Given the description of an element on the screen output the (x, y) to click on. 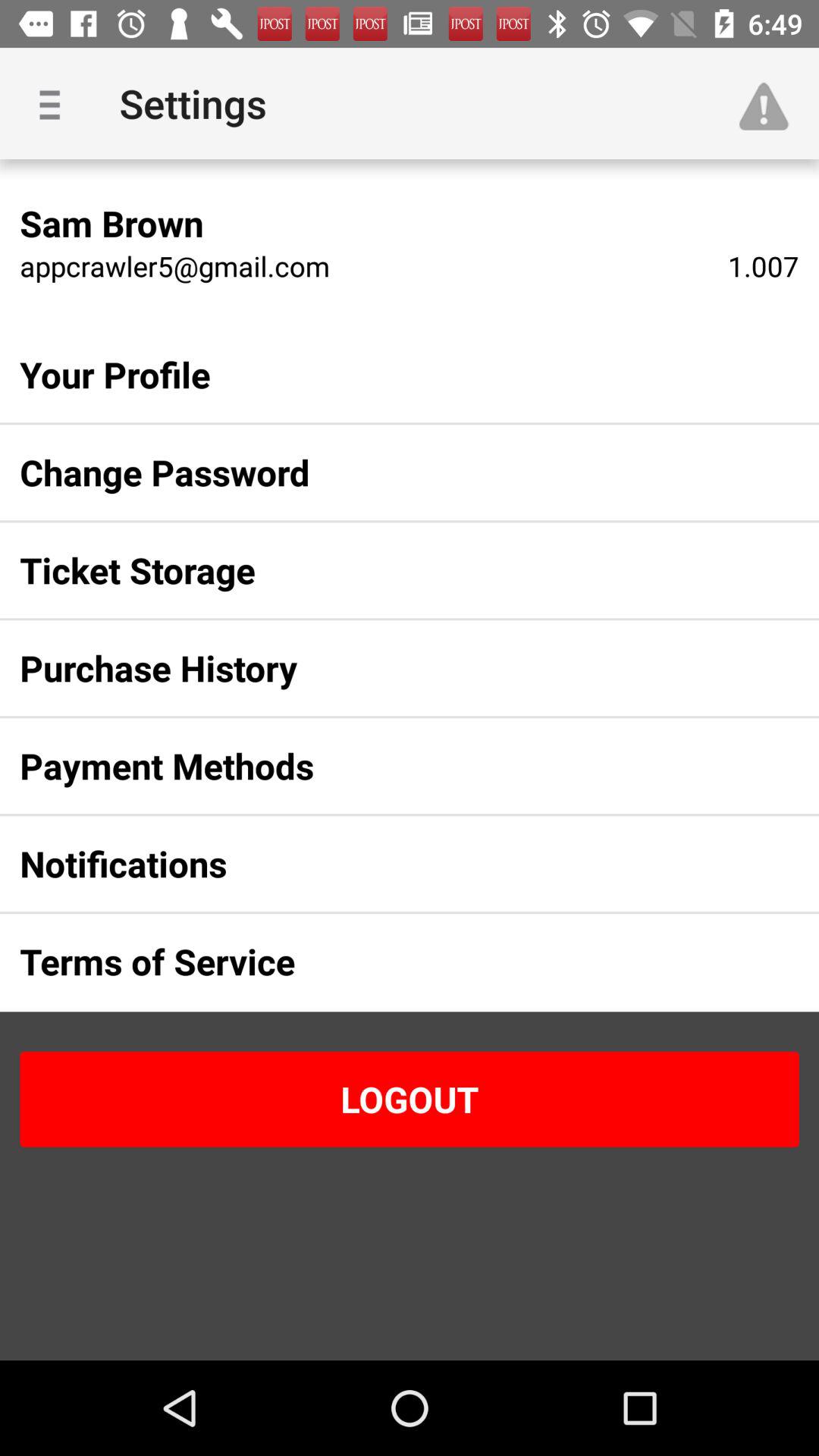
tap icon above payment methods icon (385, 668)
